Given the description of an element on the screen output the (x, y) to click on. 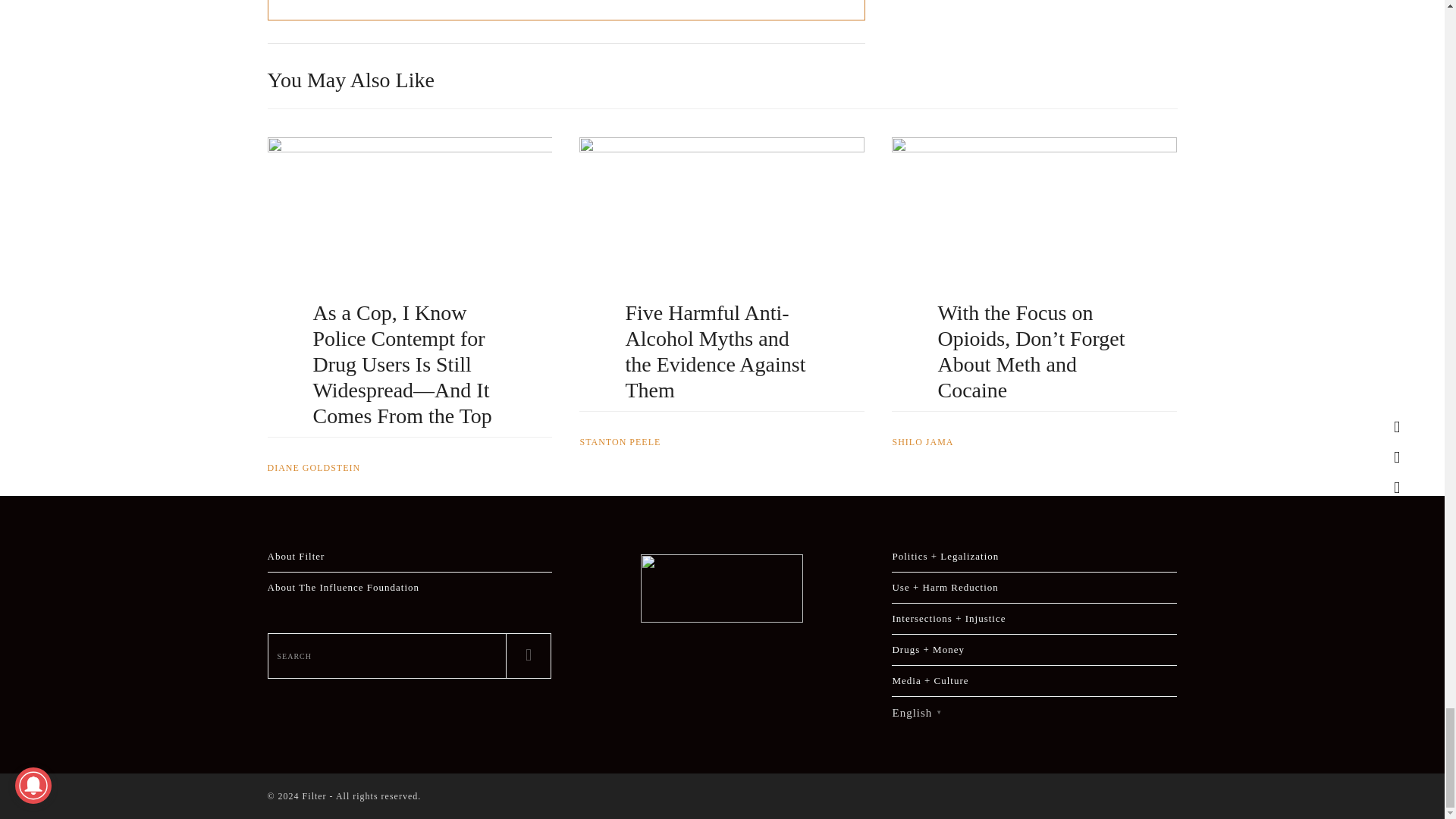
search (386, 655)
